Given the description of an element on the screen output the (x, y) to click on. 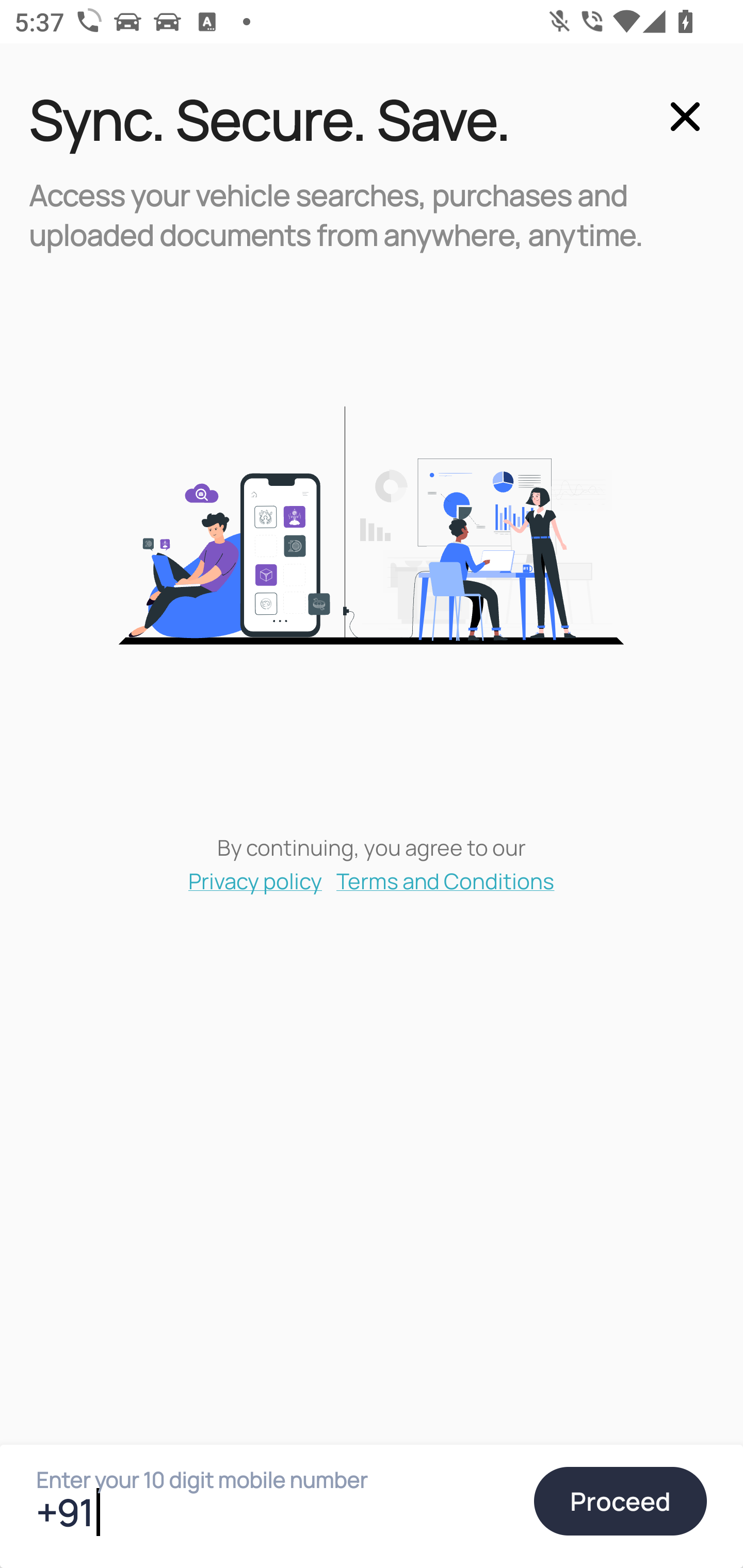
Privacy policy (254, 880)
Terms and Conditions (445, 880)
Proceed (620, 1501)
Enter your 10 digit mobile number (275, 1512)
